Given the description of an element on the screen output the (x, y) to click on. 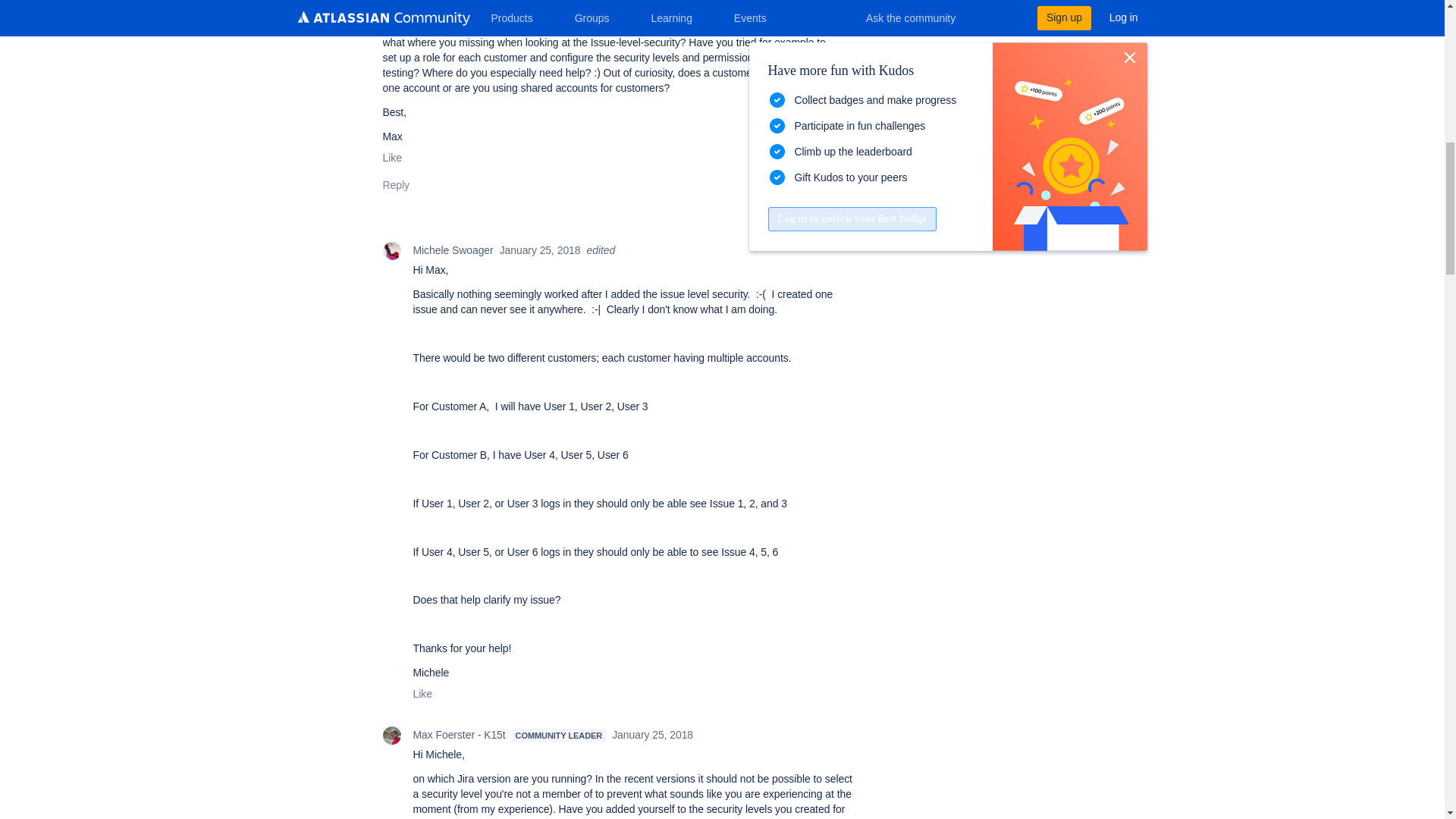
Max Foerster - K15t (390, 735)
Michele Swoager (390, 250)
Max Foerster - K15t (357, 5)
